Given the description of an element on the screen output the (x, y) to click on. 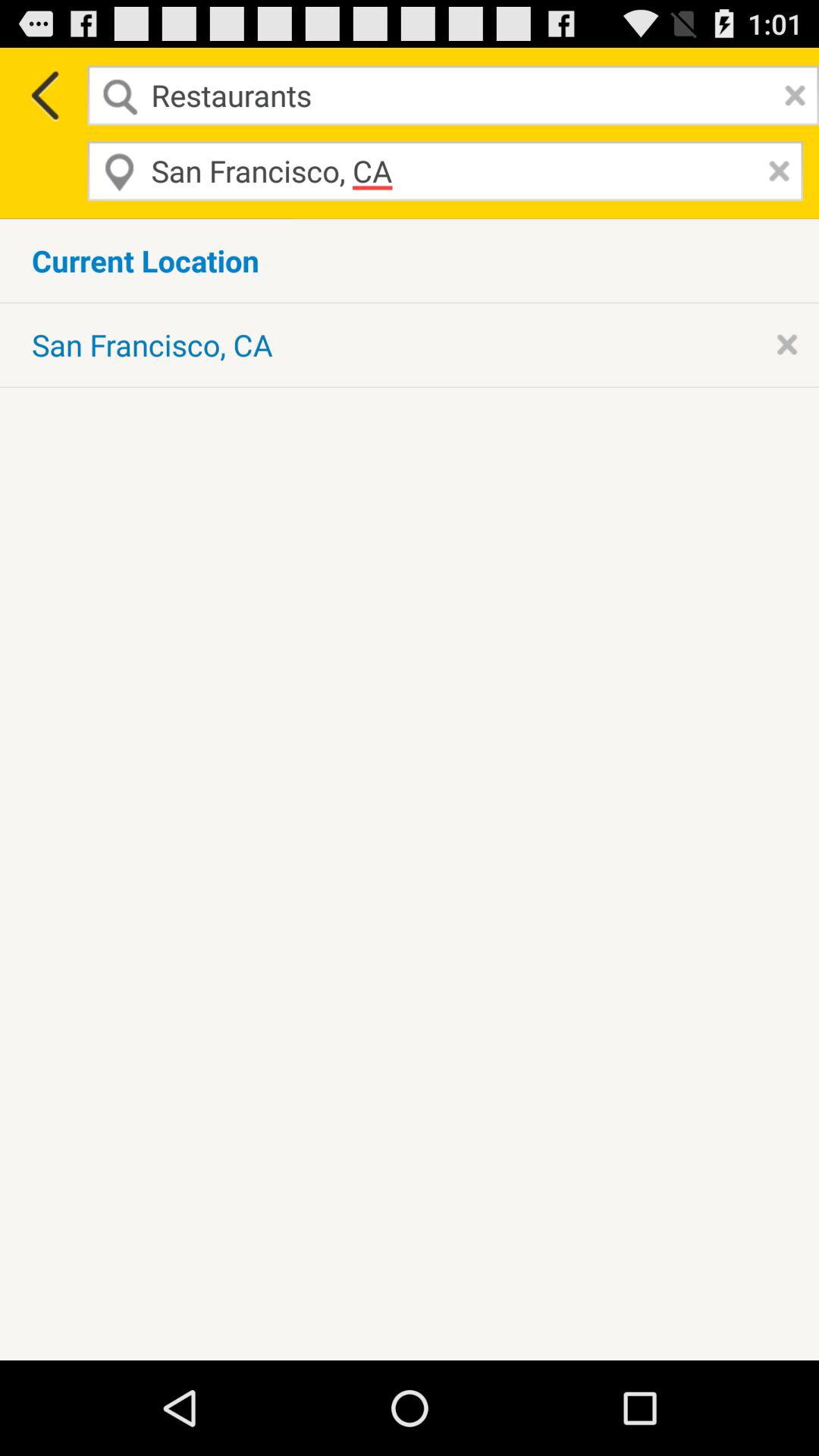
clear field (775, 171)
